Given the description of an element on the screen output the (x, y) to click on. 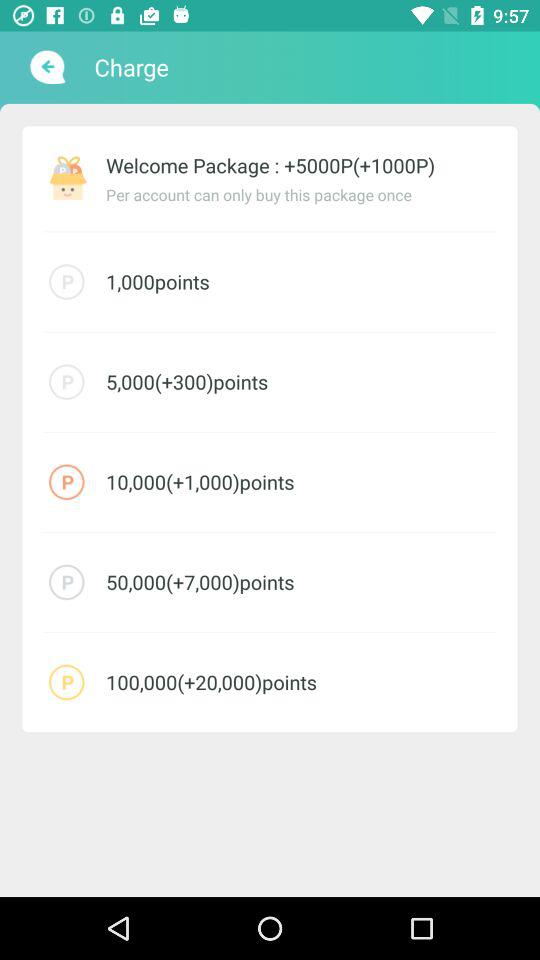
go back (45, 67)
